Given the description of an element on the screen output the (x, y) to click on. 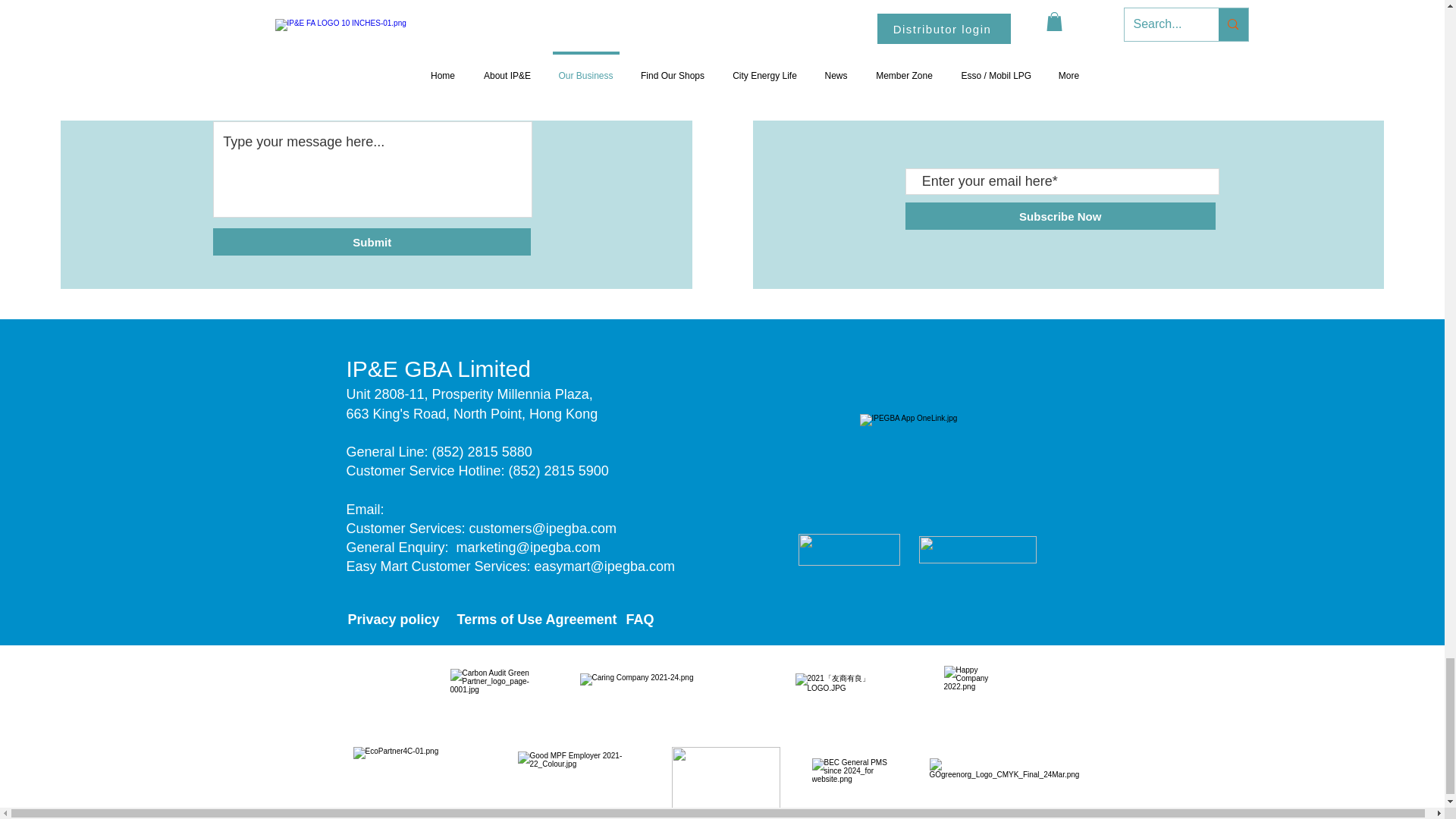
Subscribe Now (1060, 216)
Submit (371, 241)
